Given the description of an element on the screen output the (x, y) to click on. 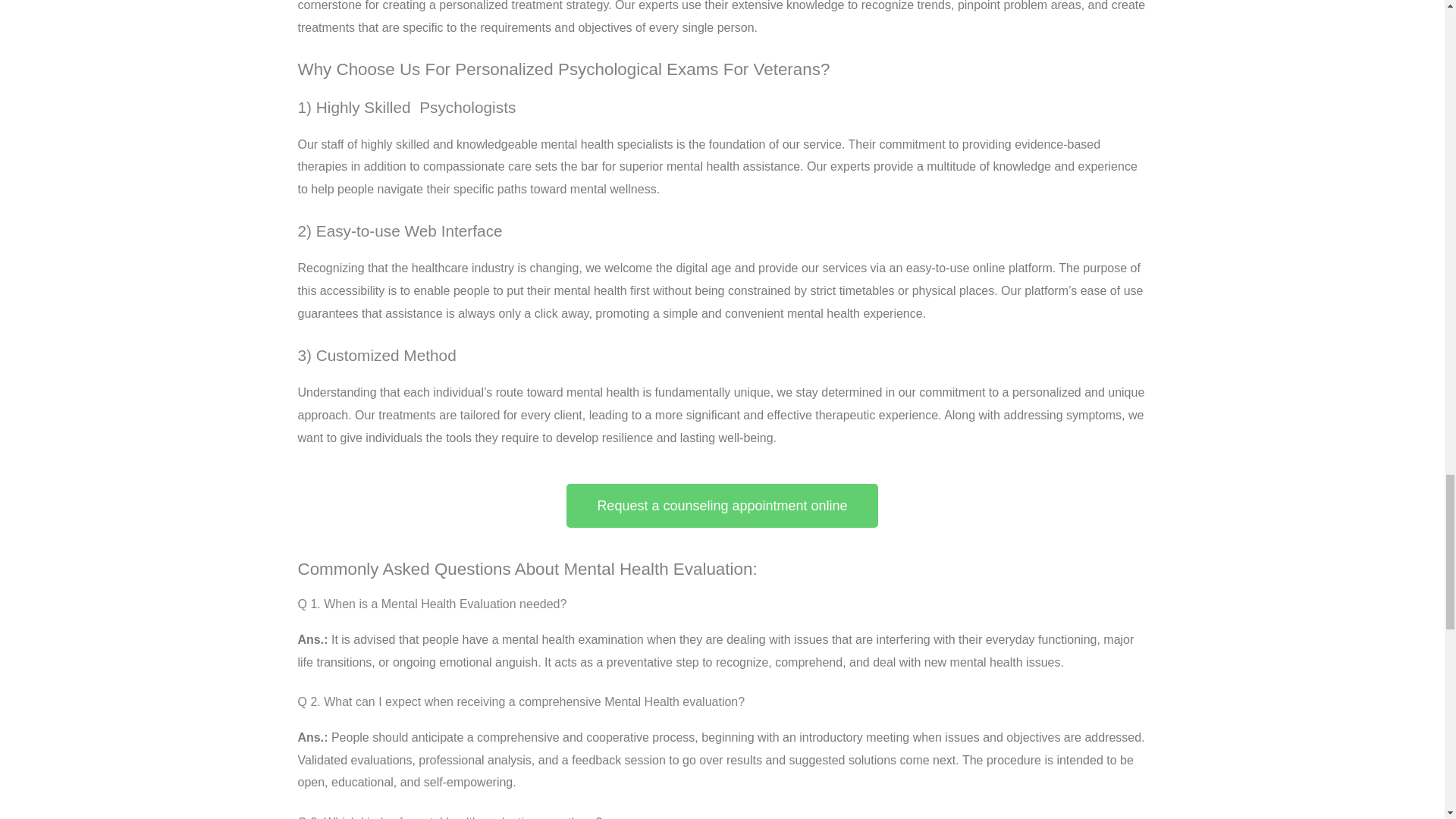
Request a counseling appointment online (721, 505)
